Given the description of an element on the screen output the (x, y) to click on. 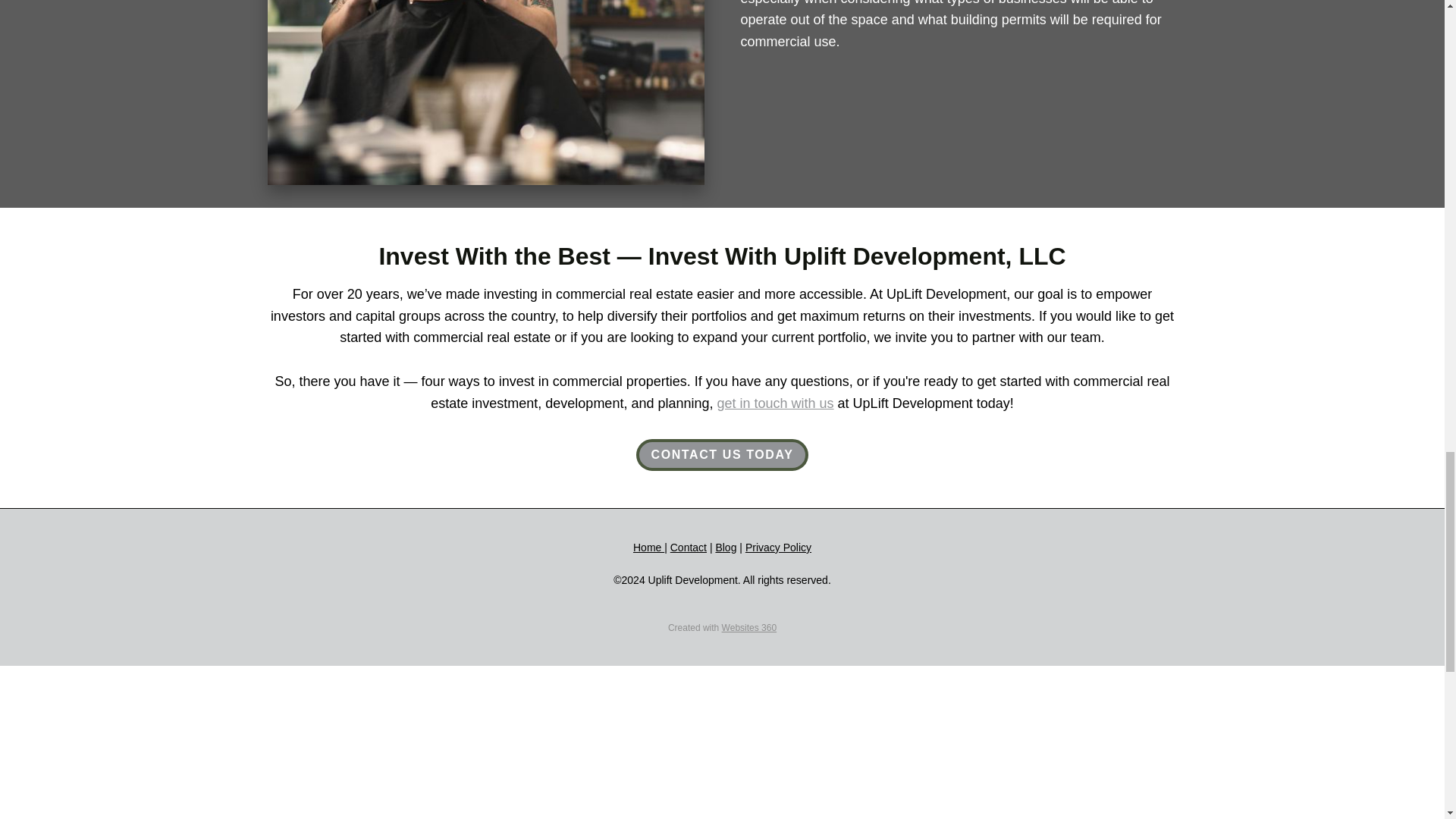
CONTACT US TODAY (721, 454)
Created with Websites 360 (722, 627)
get in touch with us (775, 403)
Blog (725, 547)
a person using a house as a barber shop (484, 92)
Contact (687, 547)
Privacy Policy (777, 547)
Home (648, 547)
